Given the description of an element on the screen output the (x, y) to click on. 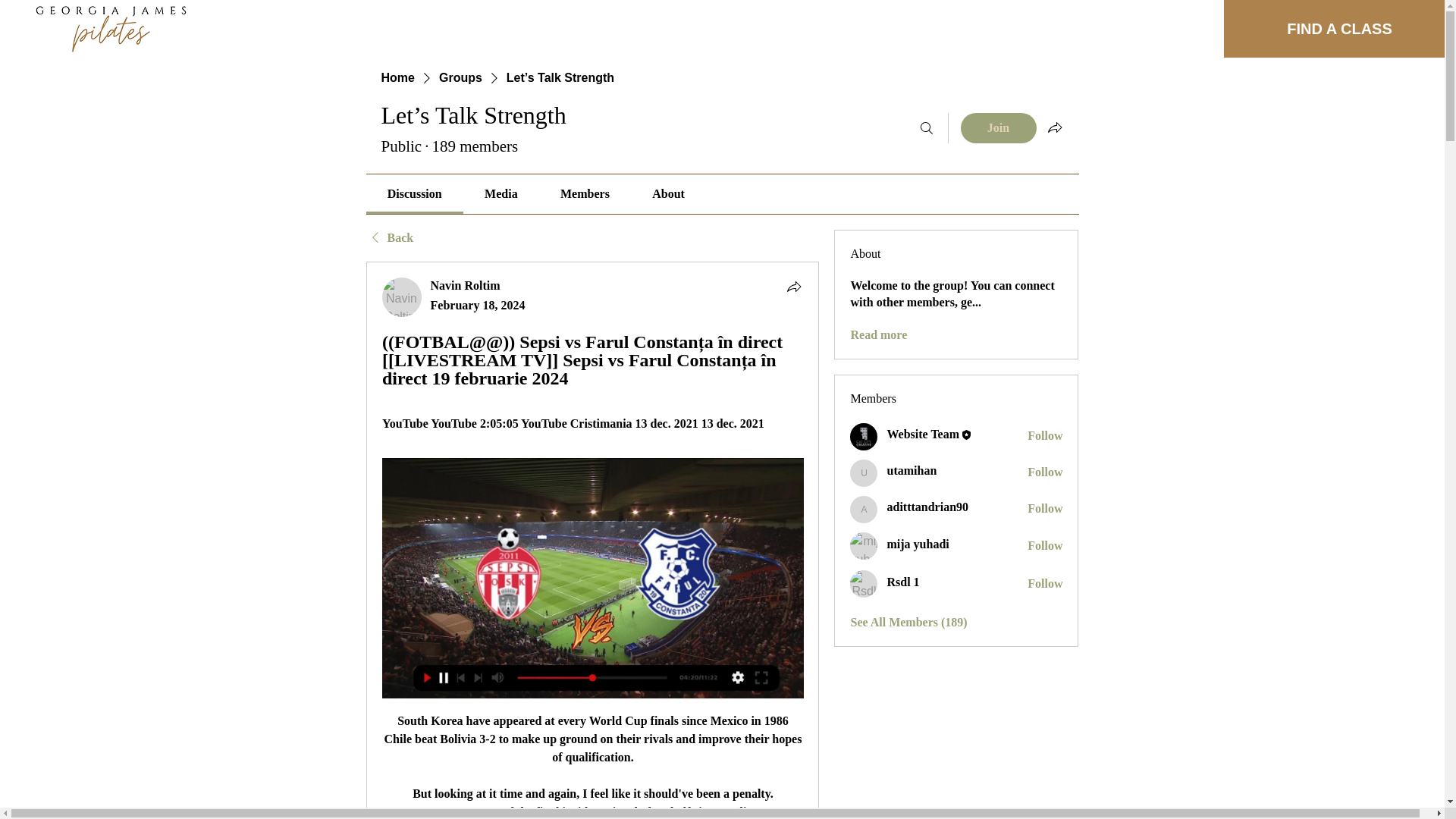
February 18, 2024 (477, 305)
Follow (1044, 508)
Website Team (863, 436)
Follow (1044, 472)
aditttandrian90 (863, 509)
Follow (1044, 545)
Follow (1044, 583)
mija yuhadi (863, 545)
Navin Roltim (401, 296)
Groups (460, 77)
Rsdl 1 (863, 583)
Navin Roltim (465, 285)
Follow (1044, 435)
utamihan (863, 472)
Back (389, 238)
